Given the description of an element on the screen output the (x, y) to click on. 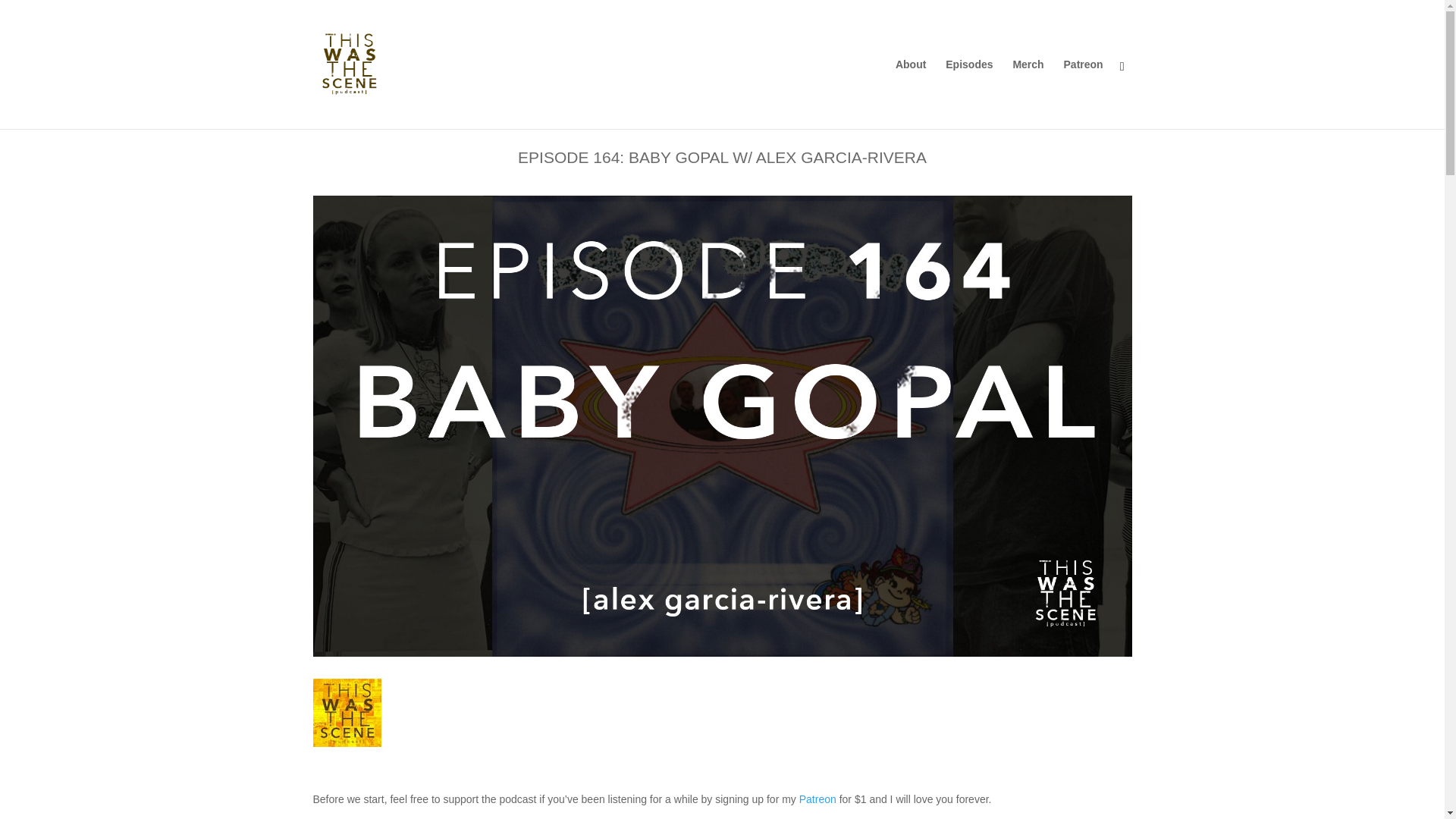
Episodes (968, 93)
Patreon (817, 799)
Merch (1027, 93)
Patreon (1083, 93)
About (910, 93)
